Given the description of an element on the screen output the (x, y) to click on. 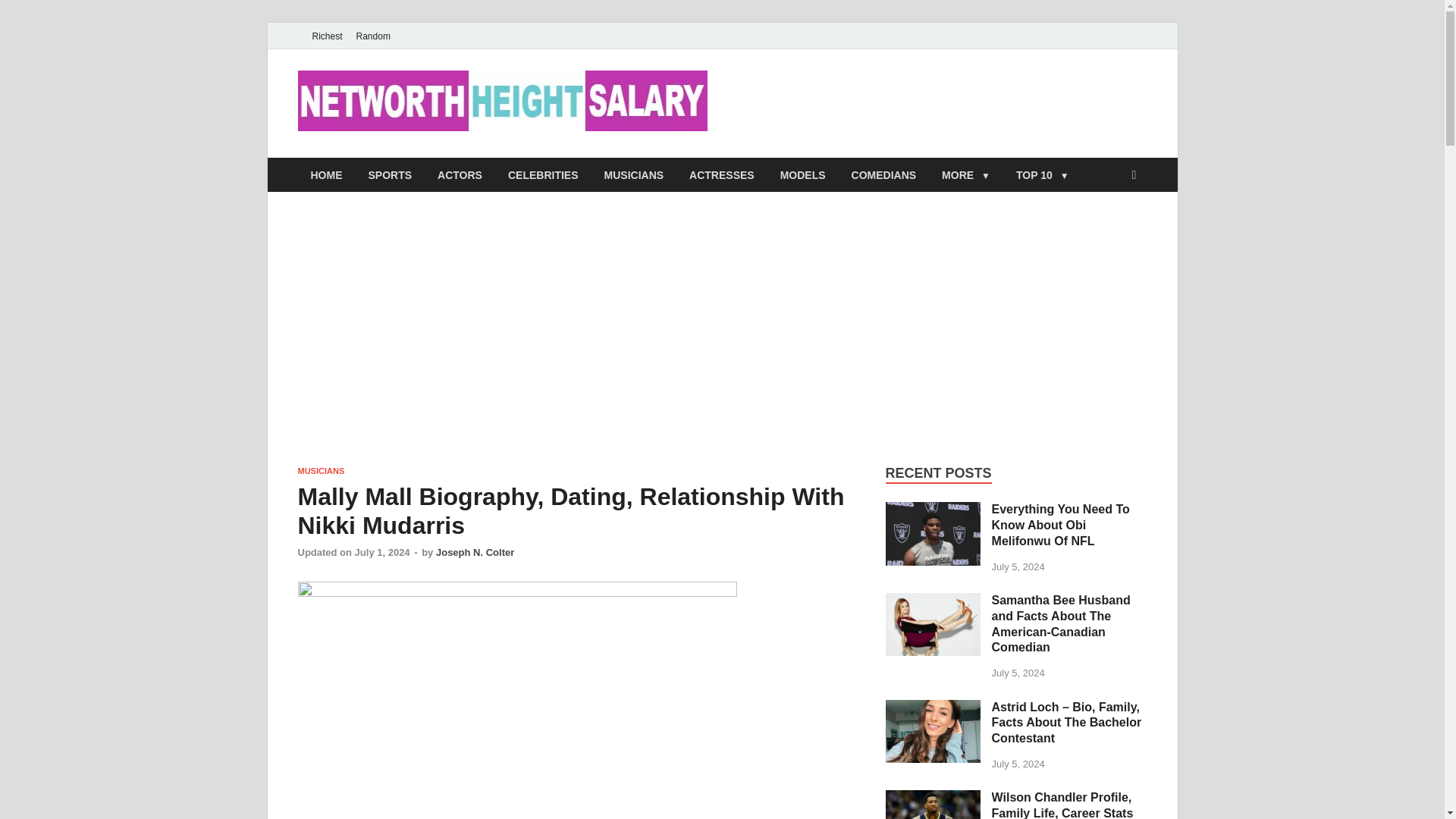
ACTORS (460, 174)
Everything You Need To Know About Obi Melifonwu Of NFL (932, 510)
Richest (326, 35)
Networth Height Salary (869, 100)
Random (373, 35)
ACTRESSES (722, 174)
MORE (965, 174)
CELEBRITIES (543, 174)
MUSICIANS (634, 174)
SPORTS (390, 174)
TOP 10 (1042, 174)
MODELS (802, 174)
COMEDIANS (884, 174)
HOME (326, 174)
